Given the description of an element on the screen output the (x, y) to click on. 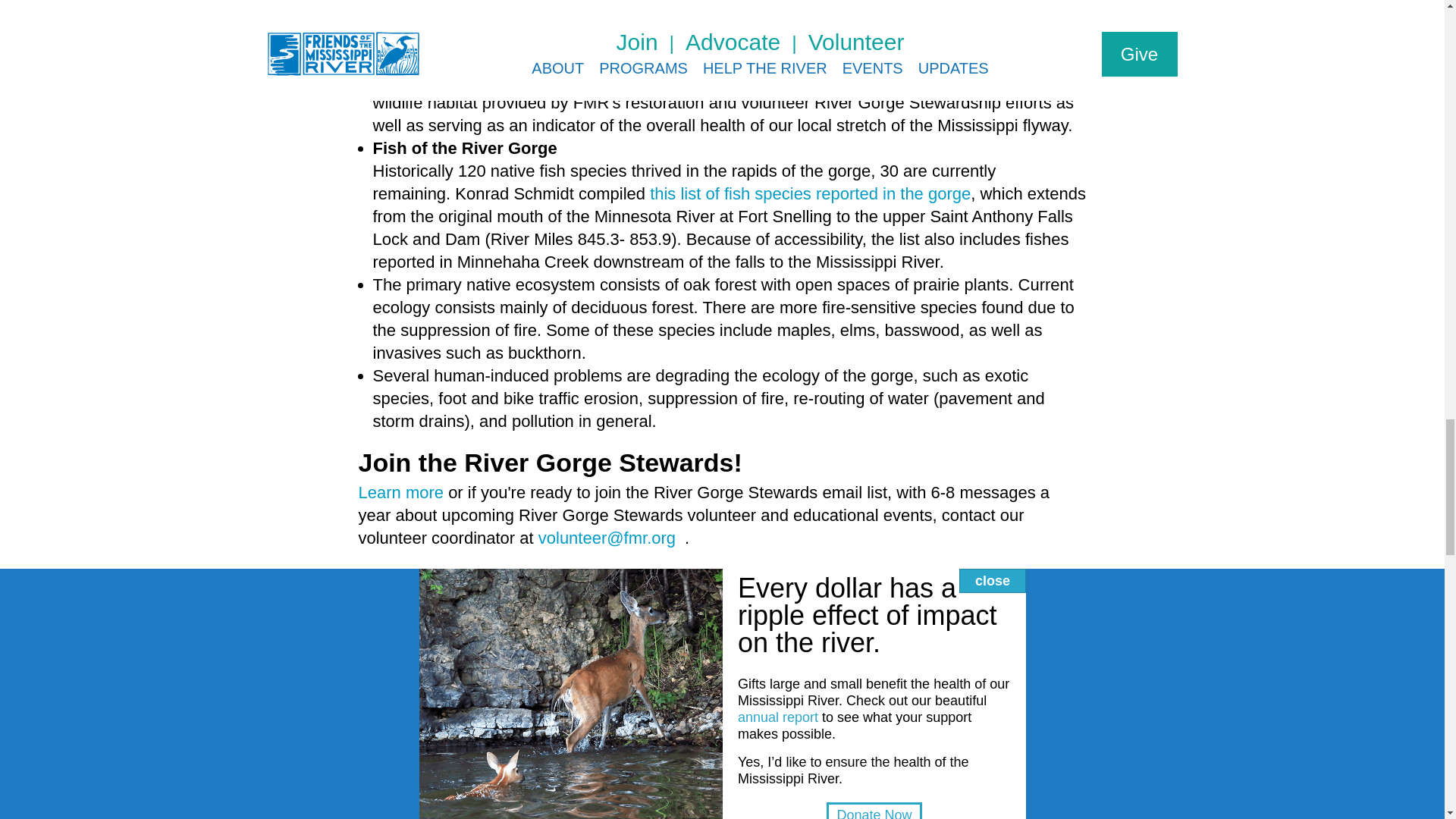
this list of fish species reported in the gorge (810, 193)
Learn more (401, 492)
Geology of the Gorge (437, 587)
Sign Up (722, 806)
